Given the description of an element on the screen output the (x, y) to click on. 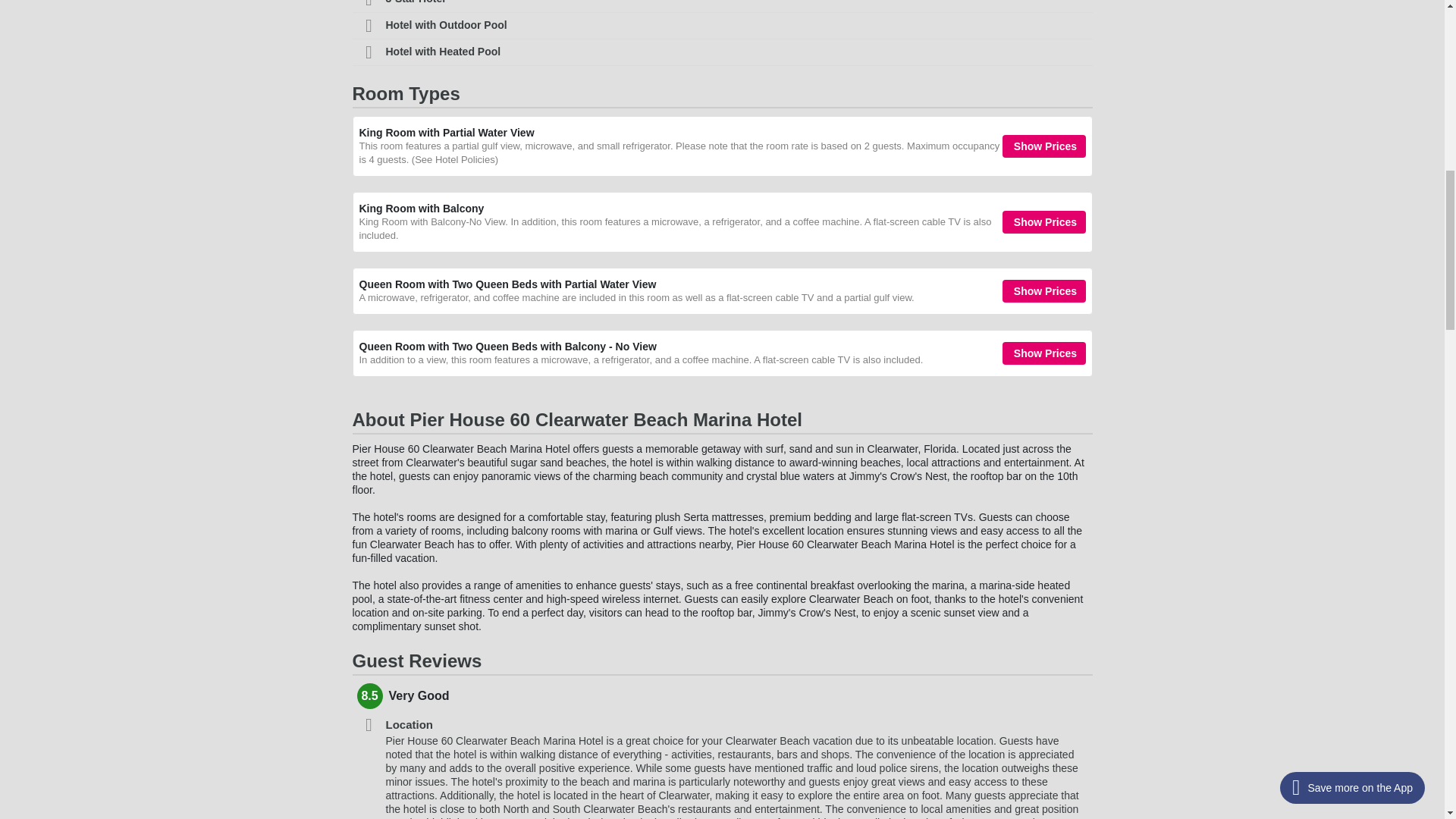
Show Prices (1044, 291)
Show Prices (1044, 146)
Show Prices (1044, 353)
Show Prices (1044, 221)
